Given the description of an element on the screen output the (x, y) to click on. 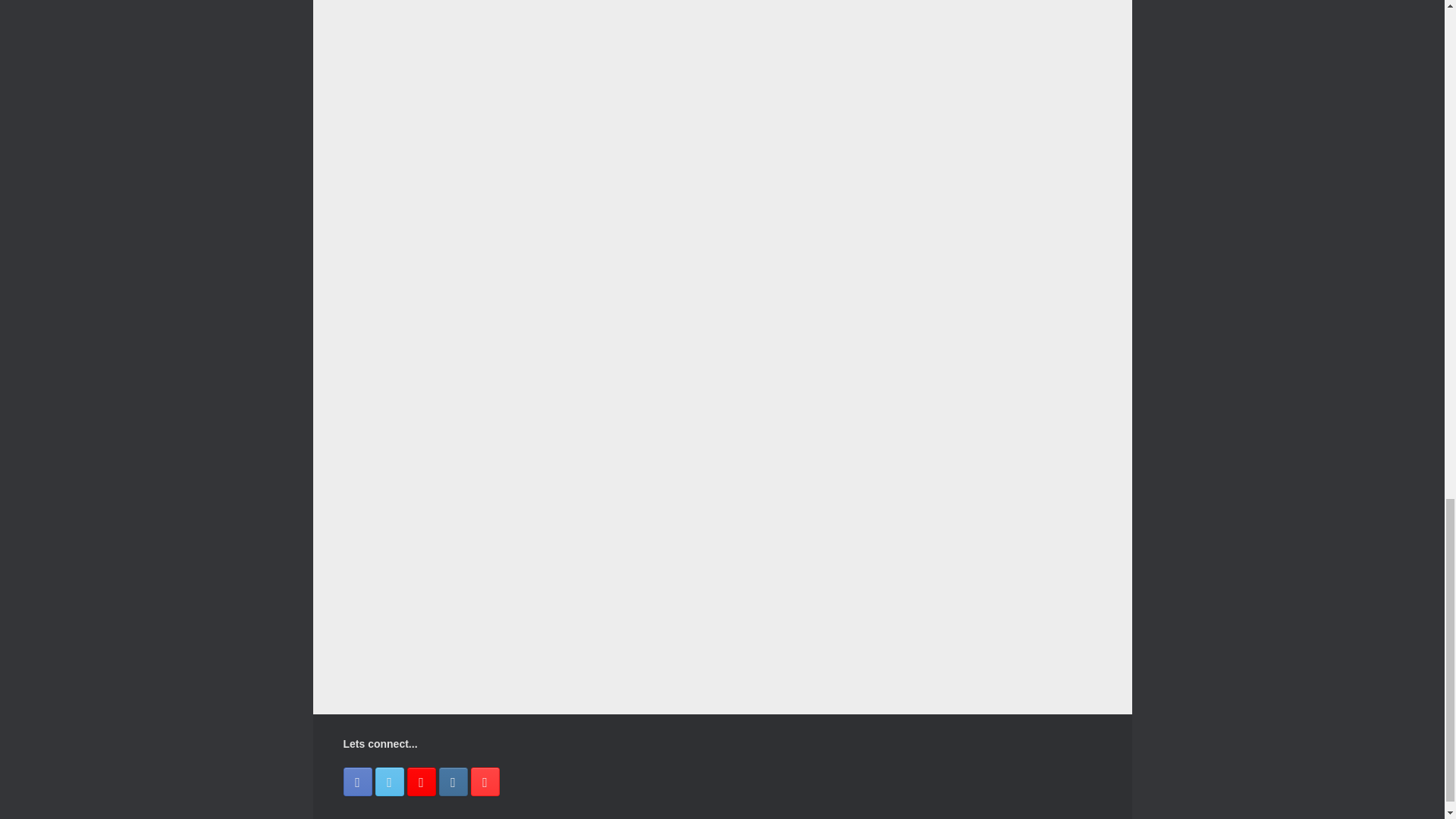
Redback Racing Twitter (388, 781)
Redback Racing YouTube (484, 781)
Redback Racing Google Plus (420, 781)
Redback Racing Facebook (356, 781)
Redback Racing Instagram (452, 781)
